Given the description of an element on the screen output the (x, y) to click on. 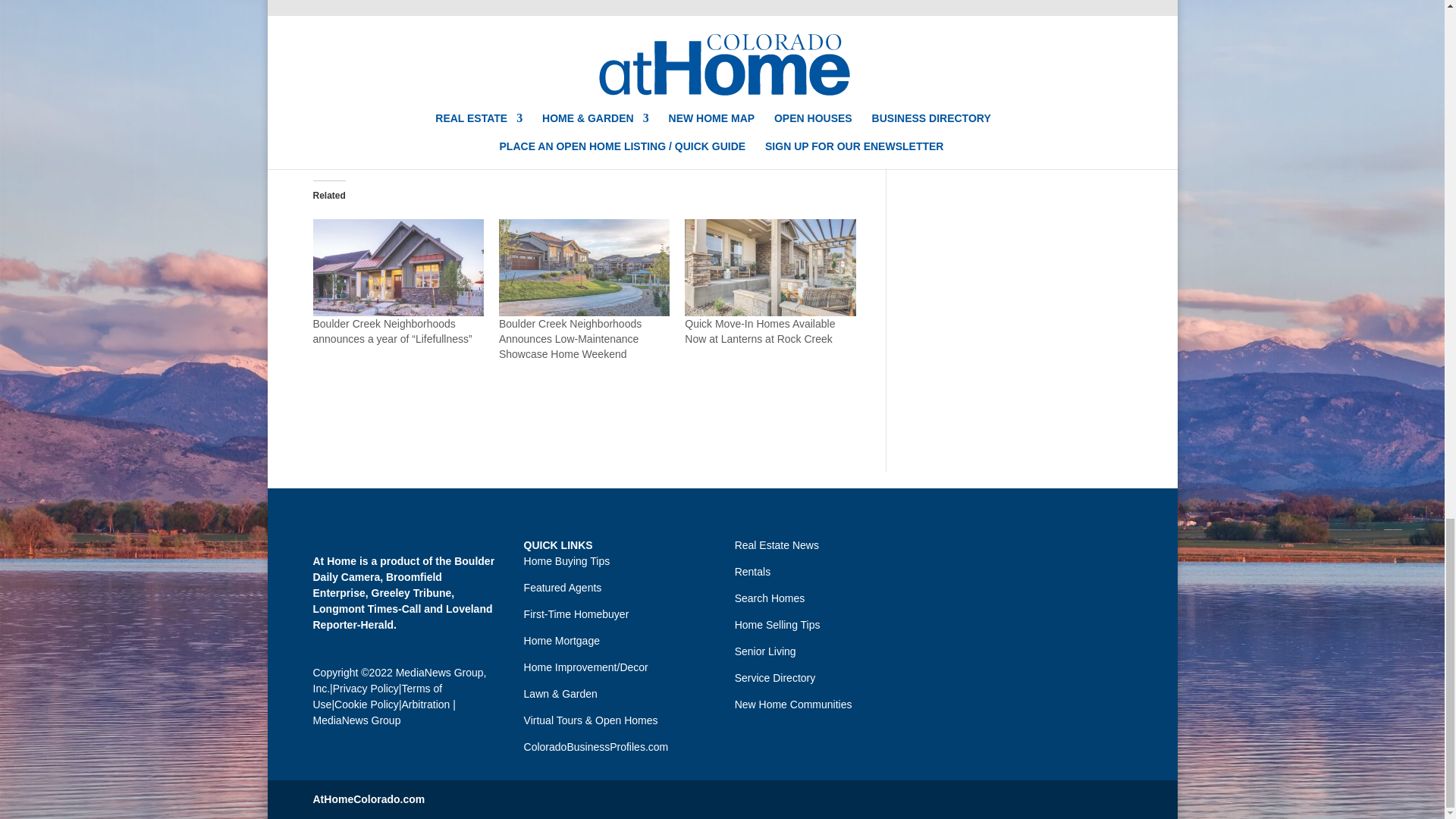
Click to print (324, 136)
Click to share on Pinterest (415, 136)
720.334.7973 (715, 20)
Quick Move-In Homes Available Now at Lanterns at Rock Creek (759, 330)
Quick Move-In Homes Available Now at Lanterns at Rock Creek (770, 267)
Click to share on Facebook (354, 136)
Click to share on Twitter (384, 136)
AtHomeColorado.com (369, 799)
